Given the description of an element on the screen output the (x, y) to click on. 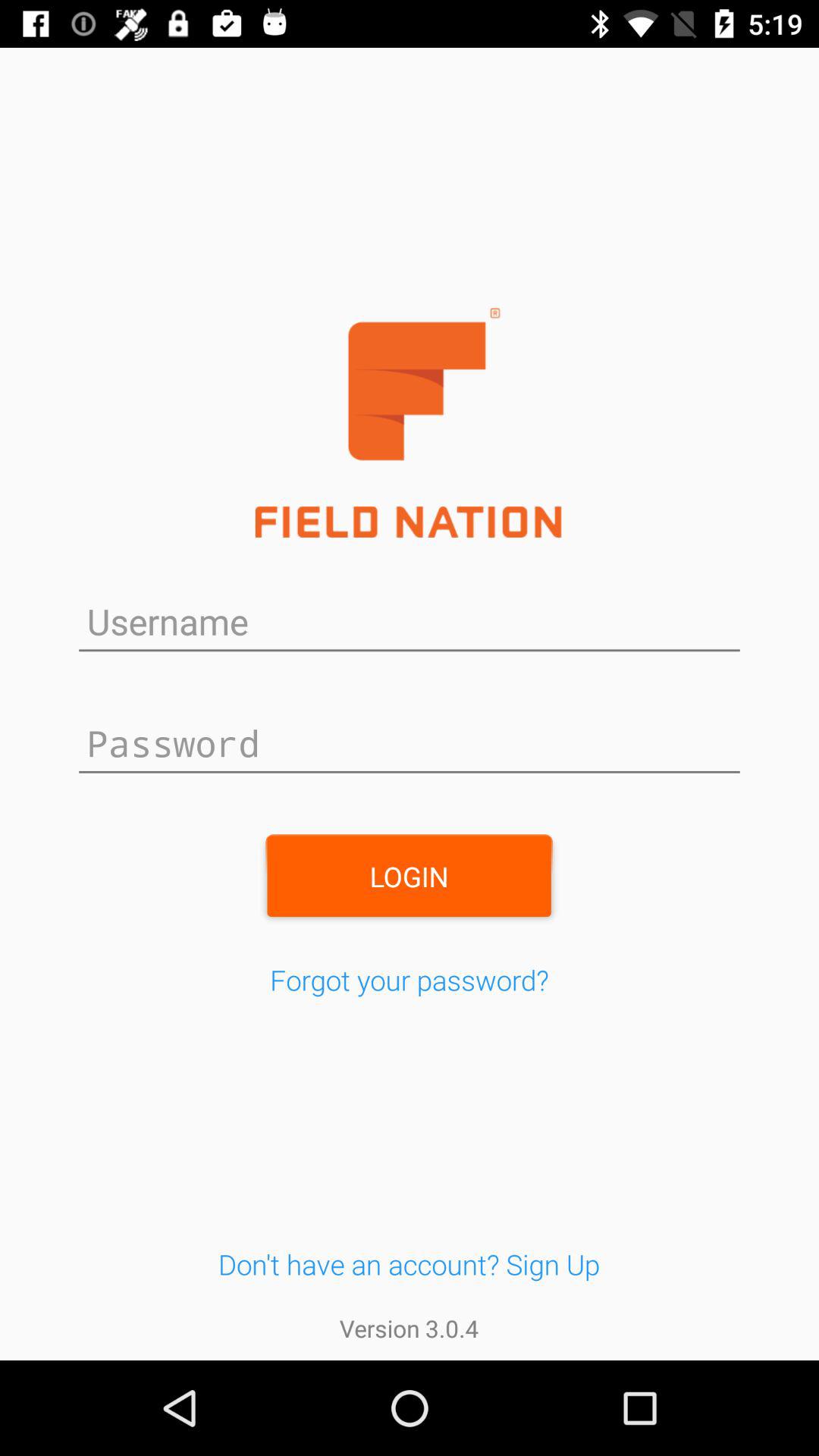
choose login (408, 876)
